Given the description of an element on the screen output the (x, y) to click on. 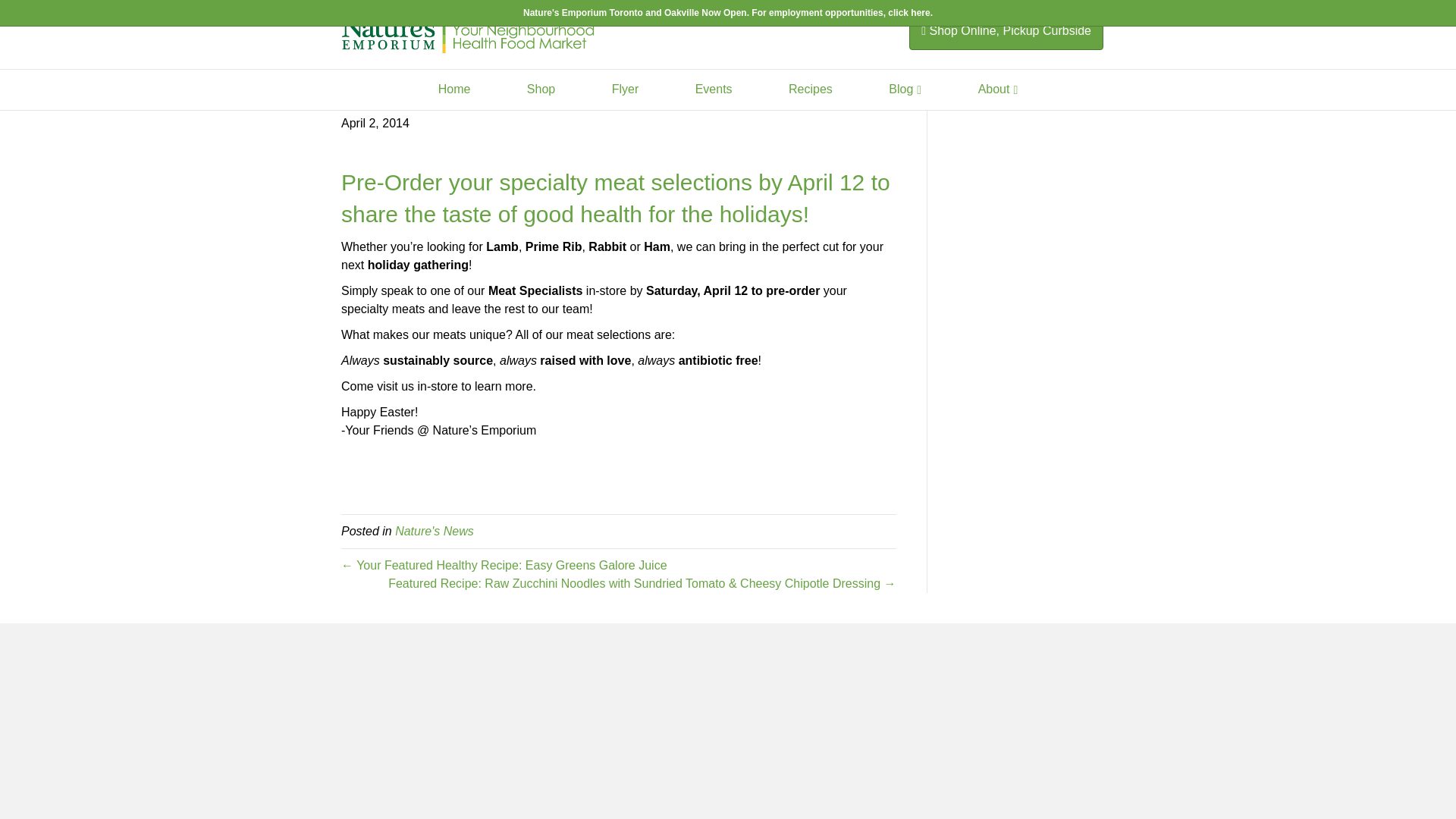
Flyer (625, 88)
Shop Online, Pickup Curbside (1004, 30)
Shop Online, Pickup Curbside (1005, 30)
Type and press Enter to search. (1035, 84)
Events (713, 88)
Blog (904, 89)
Nature's News (434, 530)
Recipes (810, 88)
Shop (540, 88)
